Given the description of an element on the screen output the (x, y) to click on. 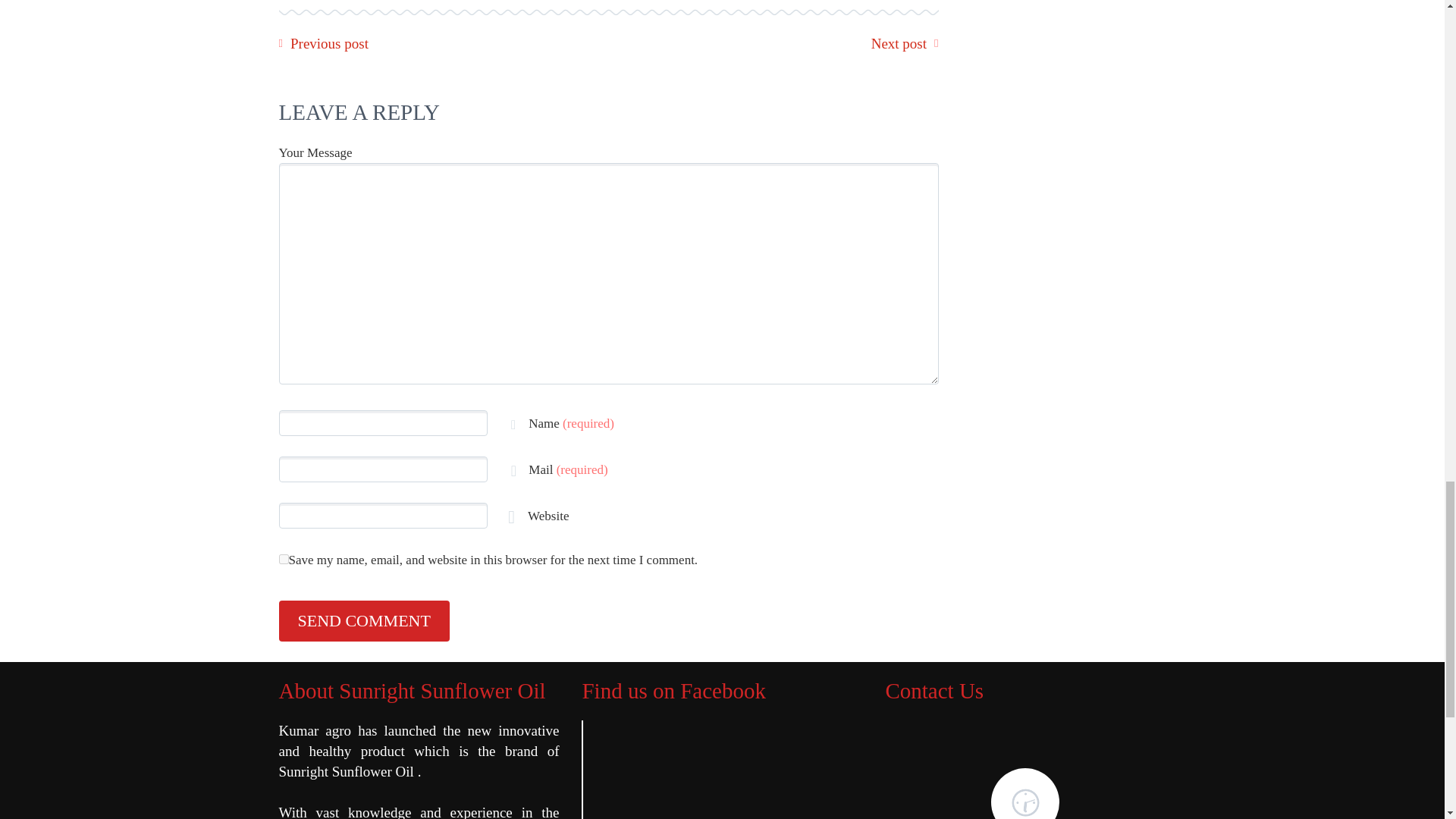
Next post (898, 43)
yes (283, 559)
Previous post (328, 43)
Send Comment (364, 620)
Send Comment (364, 620)
